Given the description of an element on the screen output the (x, y) to click on. 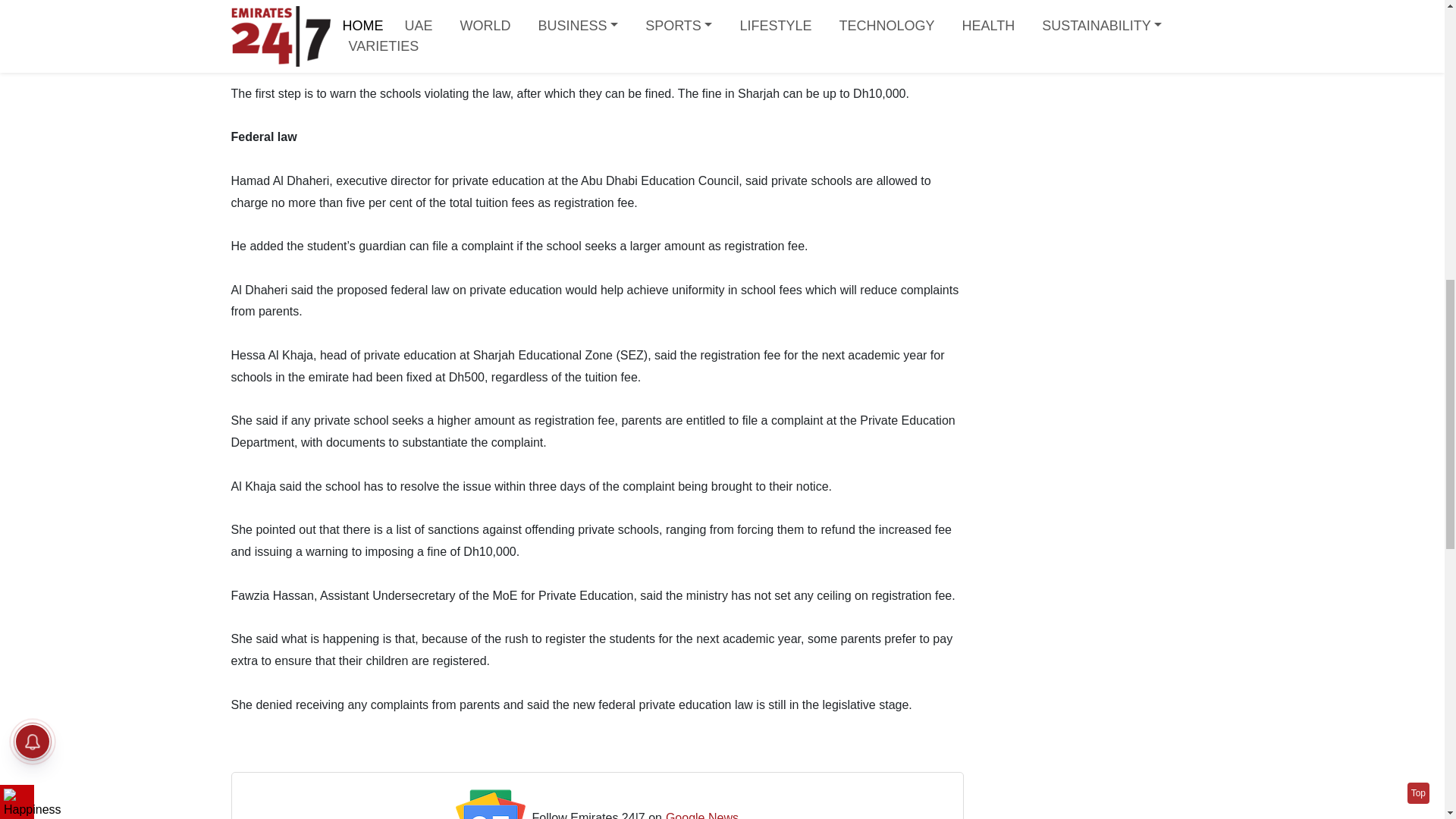
Google News. (703, 813)
